Given the description of an element on the screen output the (x, y) to click on. 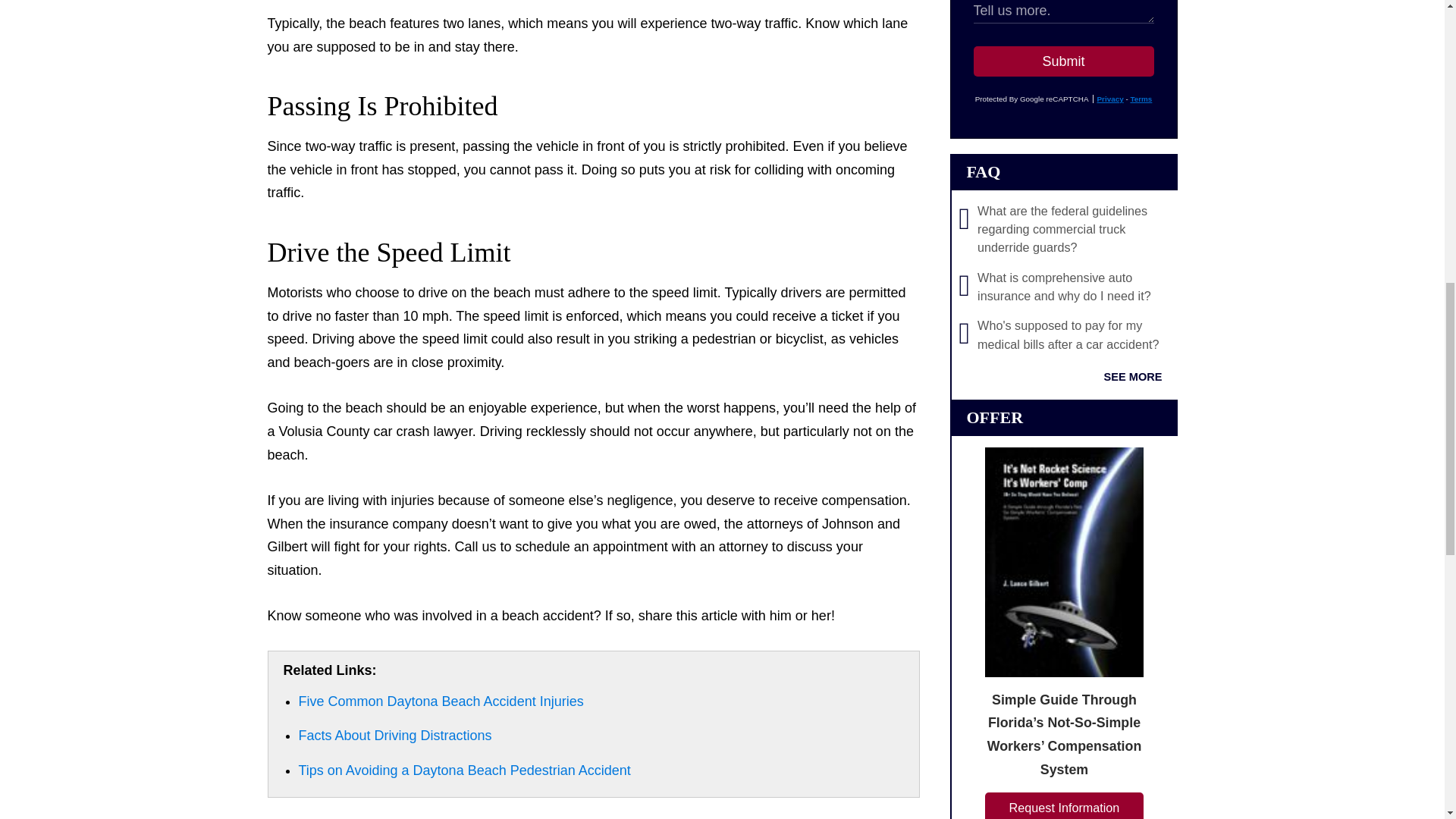
Tips on Avoiding a Daytona Beach Pedestrian Accident (464, 770)
Terms (1140, 99)
Submit (1064, 60)
Five Common Daytona Beach Accident Injuries (440, 701)
Privacy (1109, 99)
FAQ (983, 171)
Facts About Driving Distractions (395, 735)
